Given the description of an element on the screen output the (x, y) to click on. 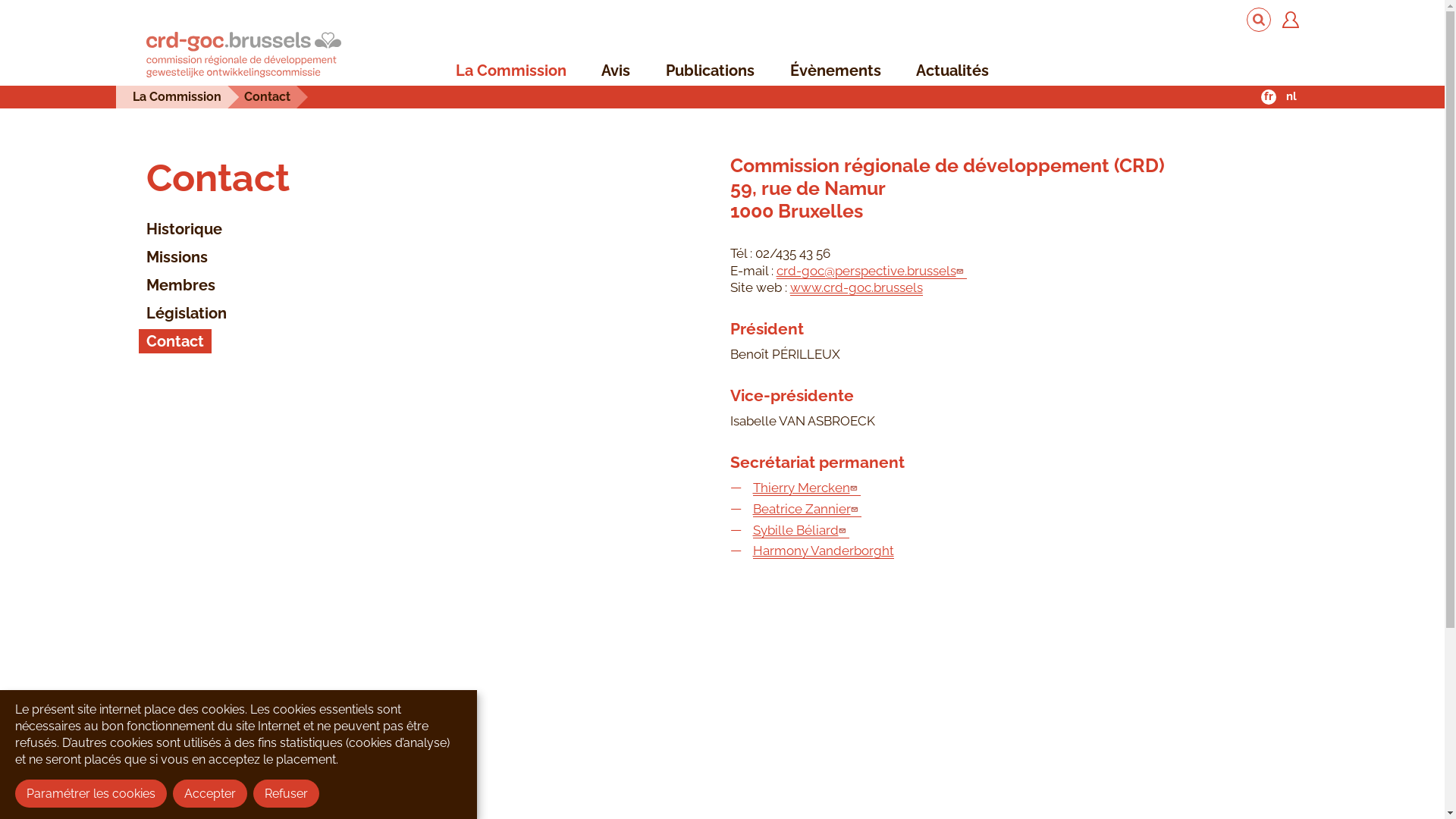
Harmony Vanderborght Element type: text (822, 550)
www.crd-goc.brussels Element type: text (856, 287)
nl Element type: text (1290, 96)
Membres Element type: text (179, 285)
Refuser Element type: text (286, 793)
Accueil Element type: hover (243, 56)
Rechercher Element type: text (1258, 19)
Se connecter Element type: hover (1289, 19)
Beatrice Zannier Element type: text (806, 509)
Thierry Mercken Element type: text (805, 487)
La Commission Element type: text (510, 70)
Avis Element type: text (615, 70)
Contact Element type: text (174, 341)
crd-goc@perspective.brussels Element type: text (871, 271)
Accepter Element type: text (209, 793)
fr Element type: text (1267, 96)
Historique Element type: text (183, 228)
La Commission Element type: text (175, 96)
Publications Element type: text (709, 70)
Missions Element type: text (176, 256)
